Given the description of an element on the screen output the (x, y) to click on. 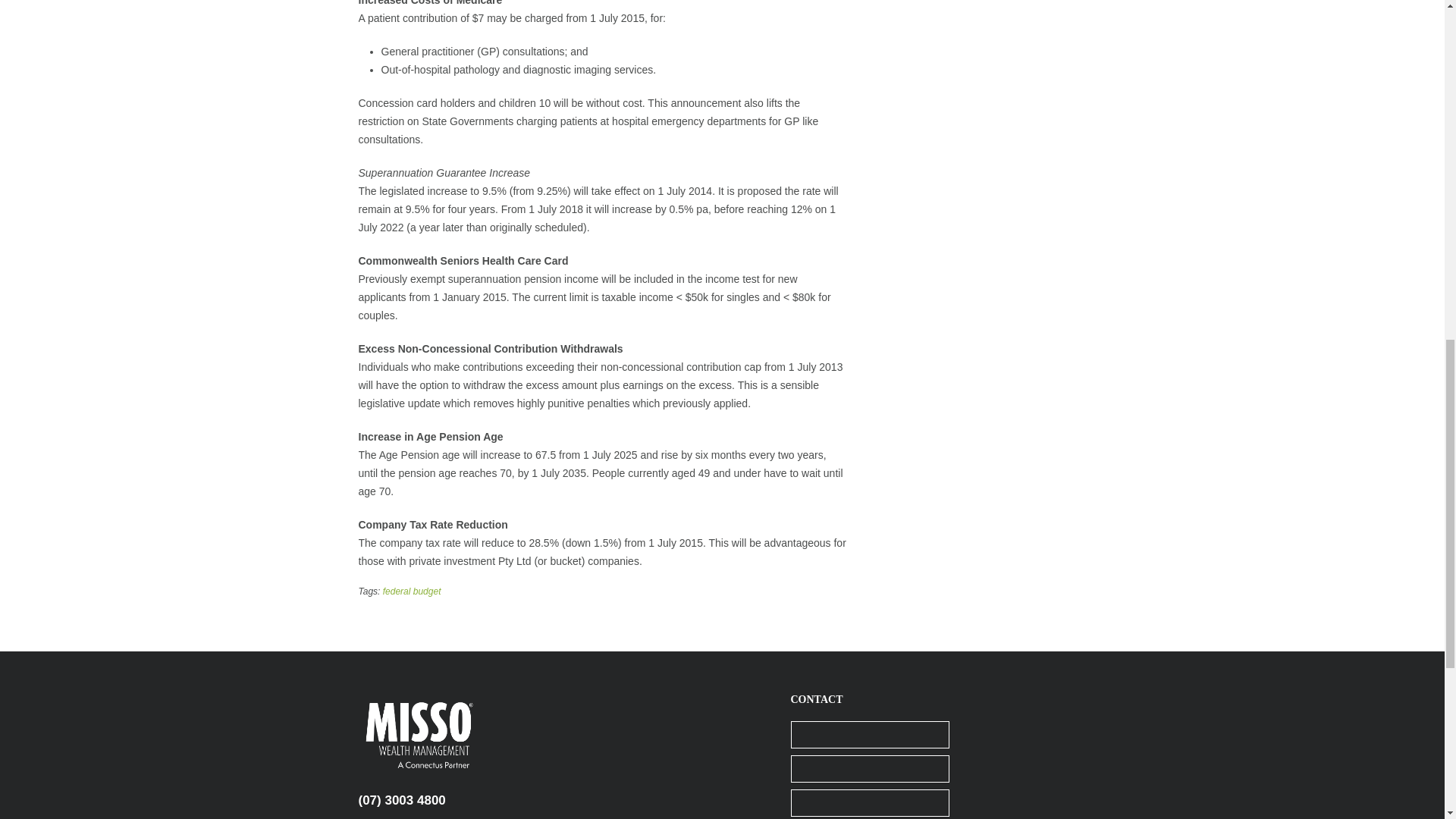
federal budget (411, 591)
Call us Now! (401, 800)
